Given the description of an element on the screen output the (x, y) to click on. 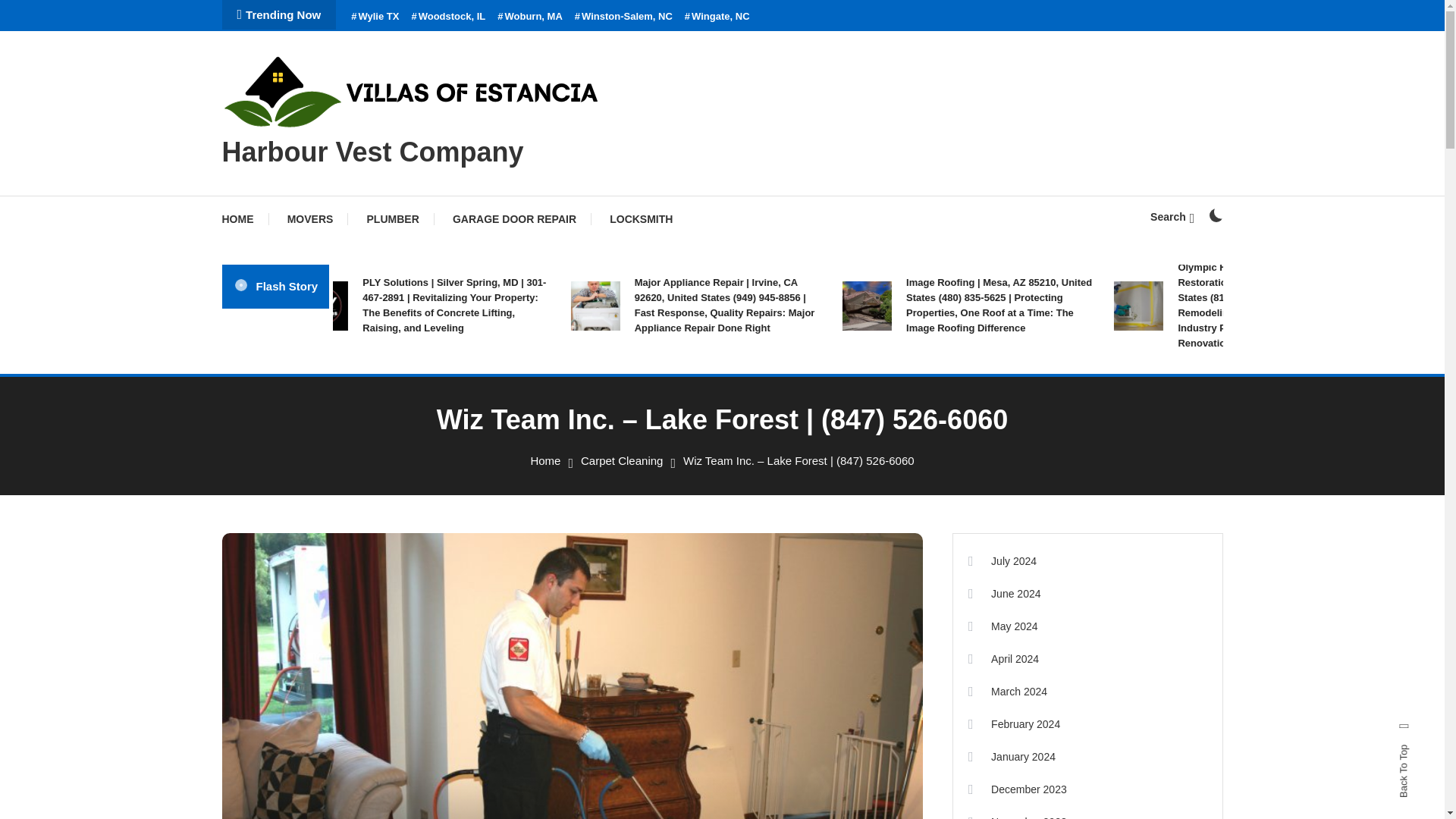
PLUMBER (392, 218)
HOME (244, 218)
Wylie TX (374, 16)
Search (1171, 216)
Carpet Cleaning (621, 460)
LOCKSMITH (640, 218)
GARAGE DOOR REPAIR (514, 218)
Woodstock, IL (447, 16)
Wingate, NC (716, 16)
Harbour Vest Company (371, 151)
MOVERS (310, 218)
Search (768, 434)
Home (544, 460)
Winston-Salem, NC (623, 16)
on (1215, 214)
